Given the description of an element on the screen output the (x, y) to click on. 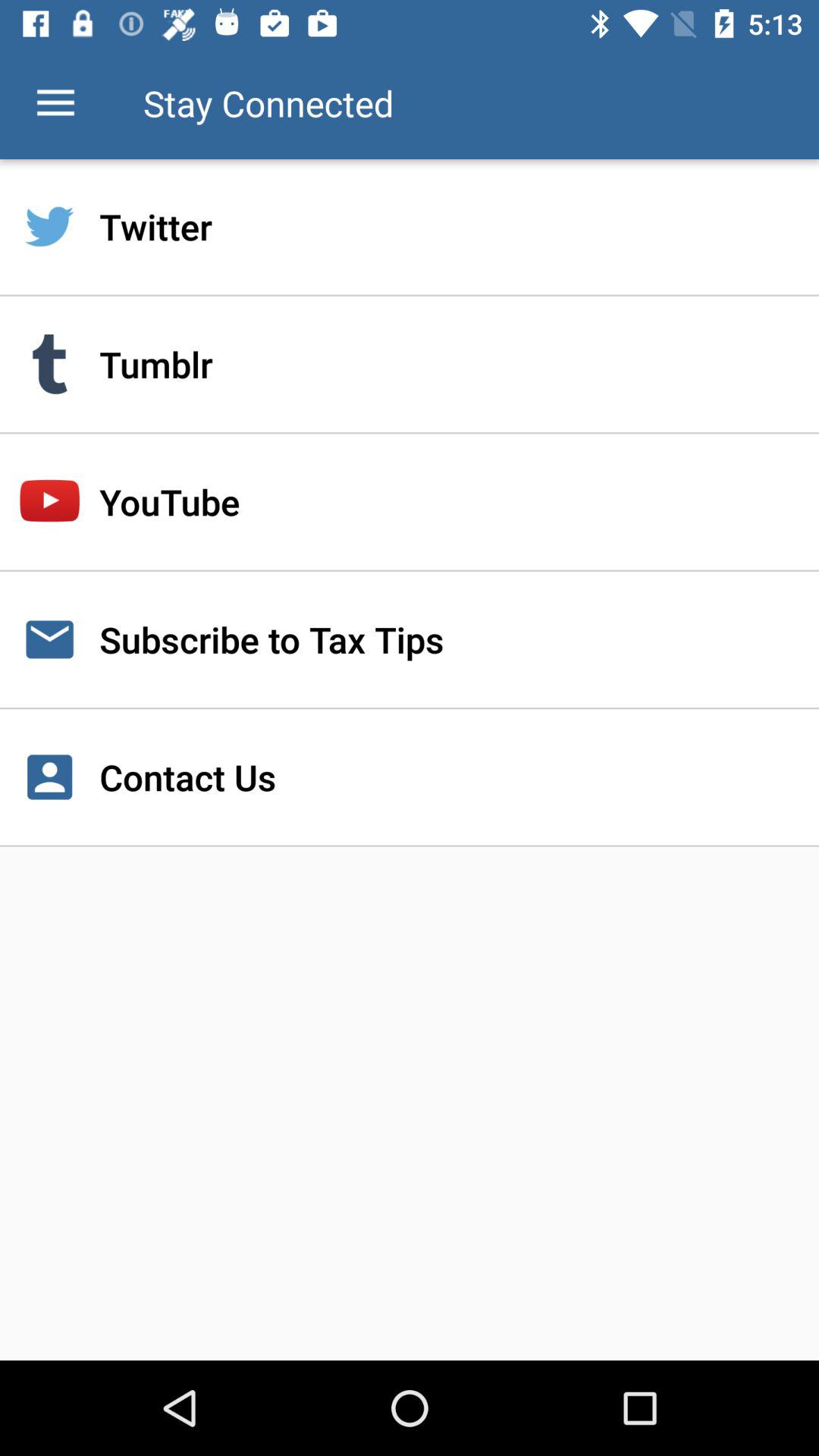
choose the subscribe to tax icon (409, 639)
